Given the description of an element on the screen output the (x, y) to click on. 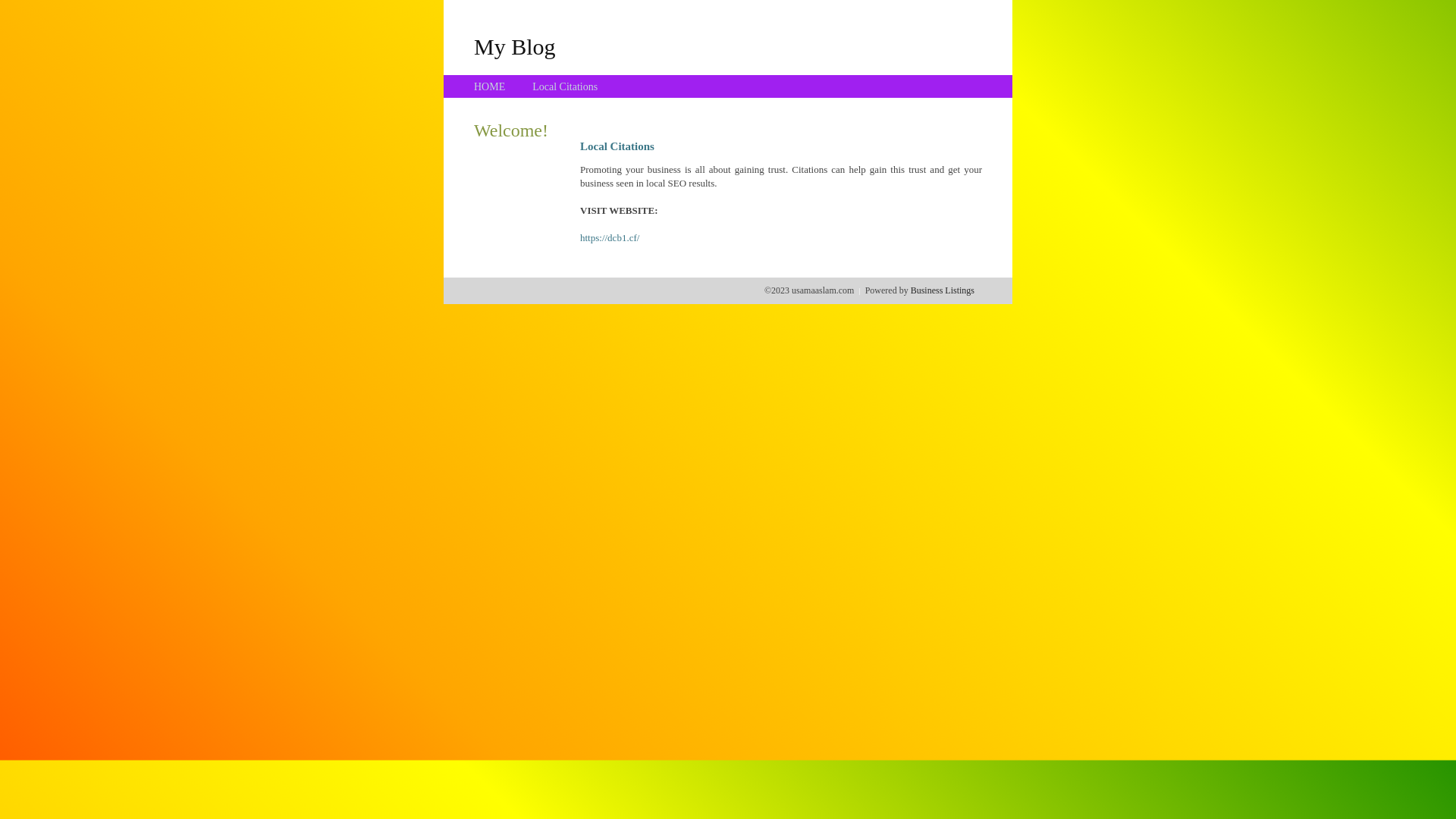
Business Listings Element type: text (942, 290)
My Blog Element type: text (514, 46)
https://dcb1.cf/ Element type: text (609, 237)
HOME Element type: text (489, 86)
Local Citations Element type: text (564, 86)
